Given the description of an element on the screen output the (x, y) to click on. 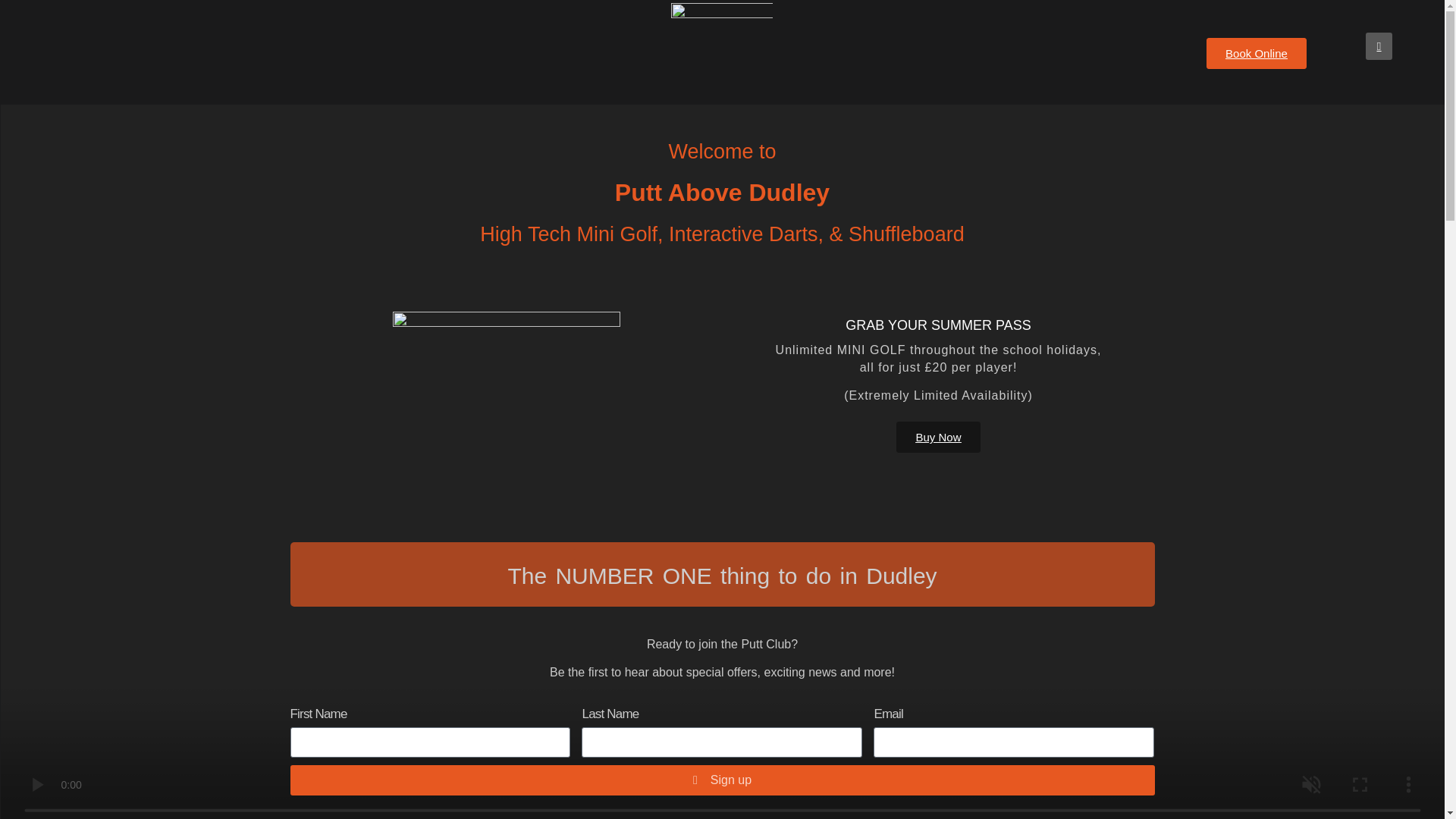
Sign up (721, 779)
Buy Now (937, 436)
Book Online (1256, 52)
